Given the description of an element on the screen output the (x, y) to click on. 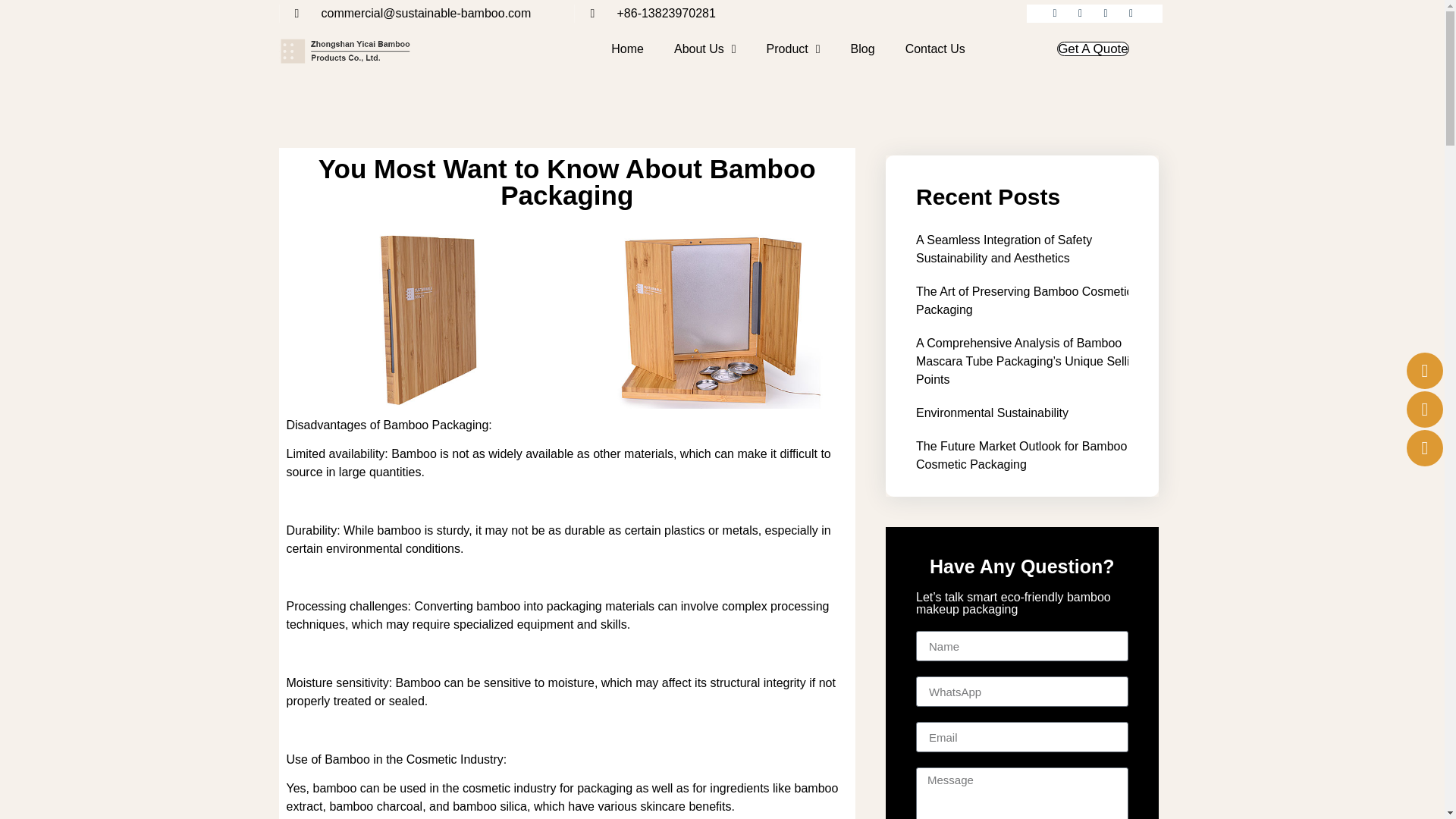
About Us (705, 48)
Product (793, 48)
Home (627, 48)
